Given the description of an element on the screen output the (x, y) to click on. 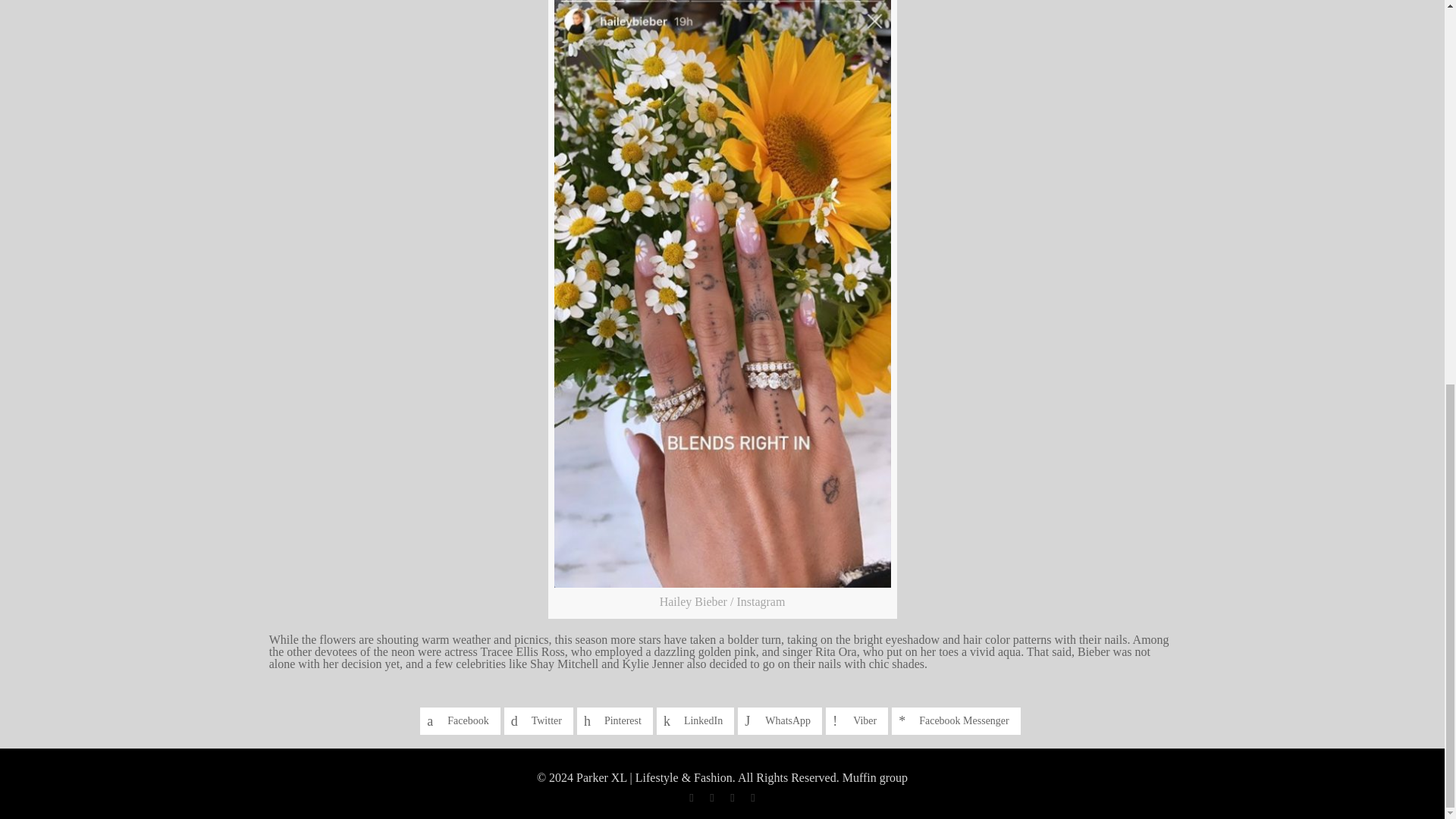
Facebook (459, 720)
Share on LinkedIn (694, 720)
Facebook Messenger (955, 720)
Share on Facebook Messenger (955, 720)
Share on WhatsApp (780, 720)
Share on Viber (856, 720)
Facebook (690, 797)
Pinterest (614, 720)
Viber (856, 720)
Share on Facebook (459, 720)
